Given the description of an element on the screen output the (x, y) to click on. 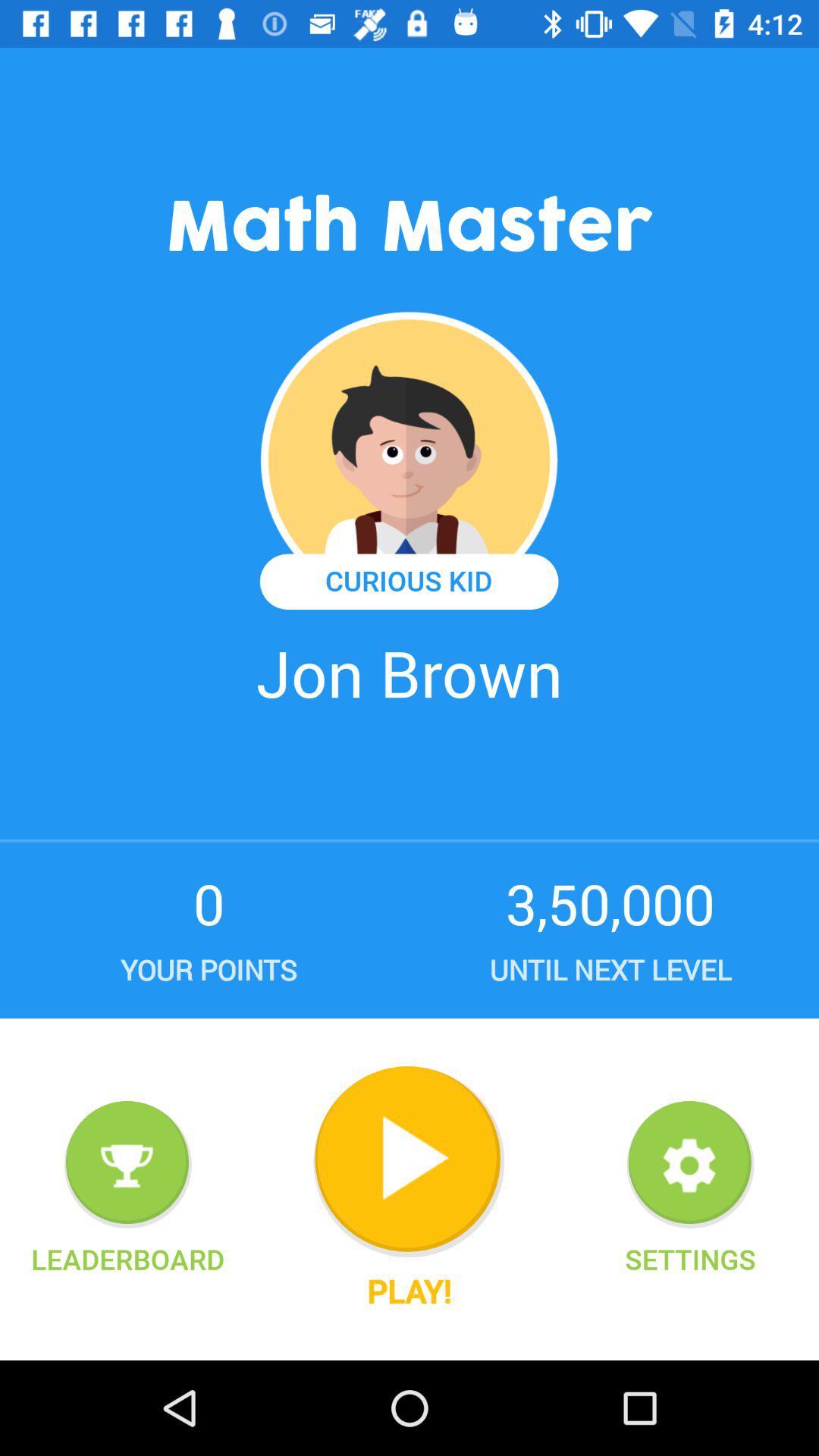
select item to the left of settings item (408, 1161)
